Given the description of an element on the screen output the (x, y) to click on. 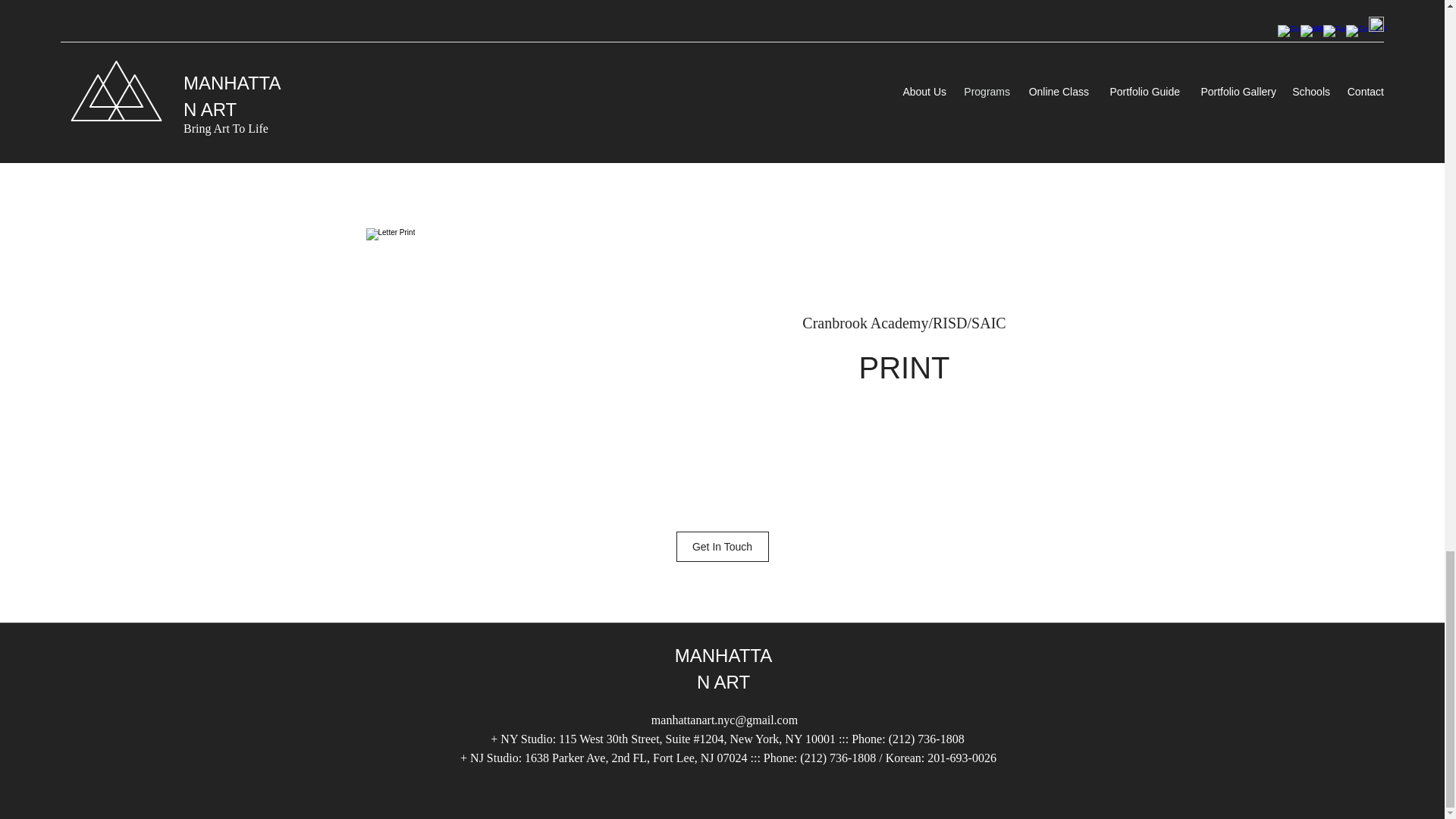
Get In Touch (722, 546)
